Given the description of an element on the screen output the (x, y) to click on. 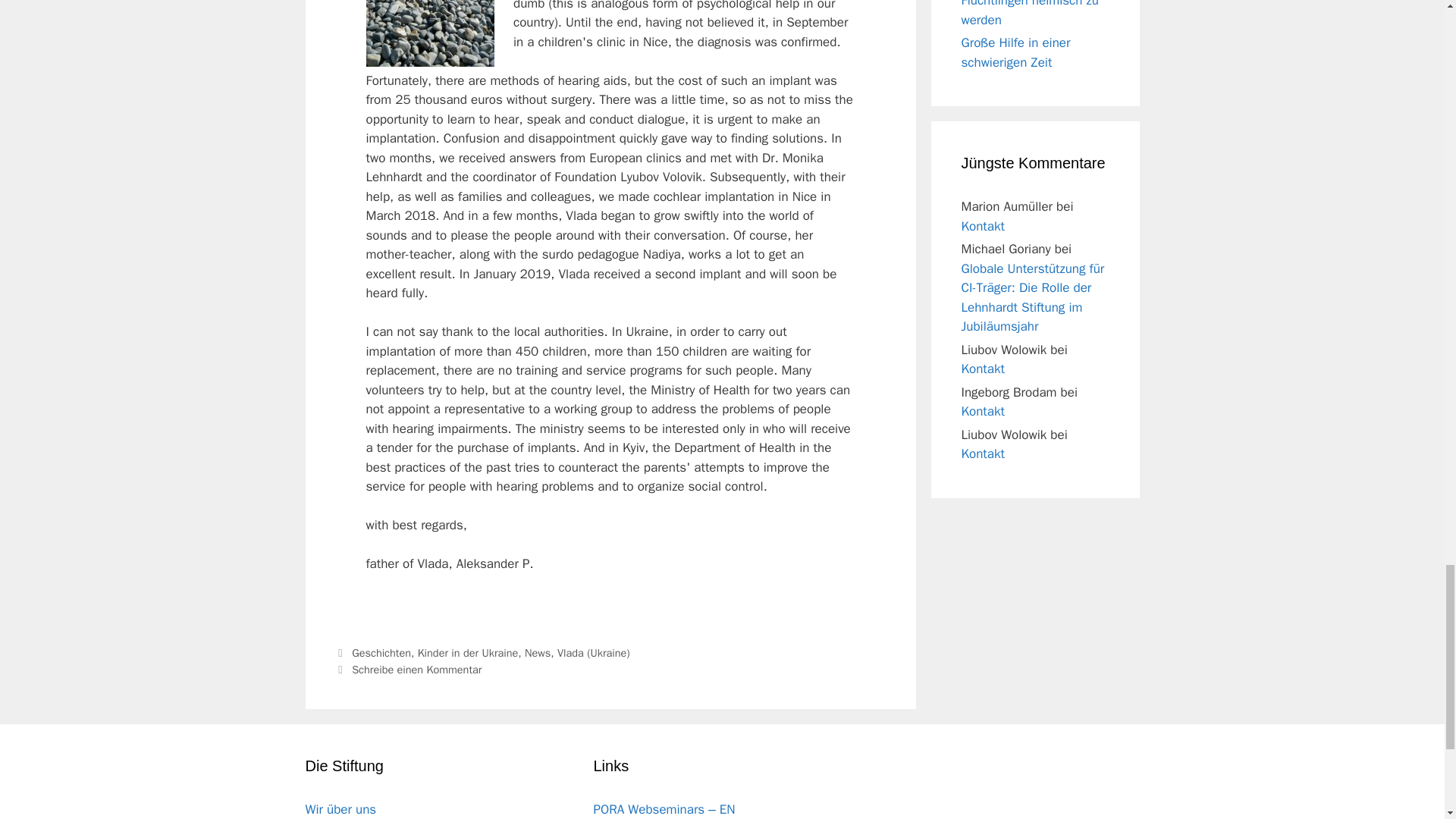
Schreibe einen Kommentar (416, 669)
Geschichten (381, 653)
Kinder in der Ukraine (467, 653)
News (537, 653)
